Given the description of an element on the screen output the (x, y) to click on. 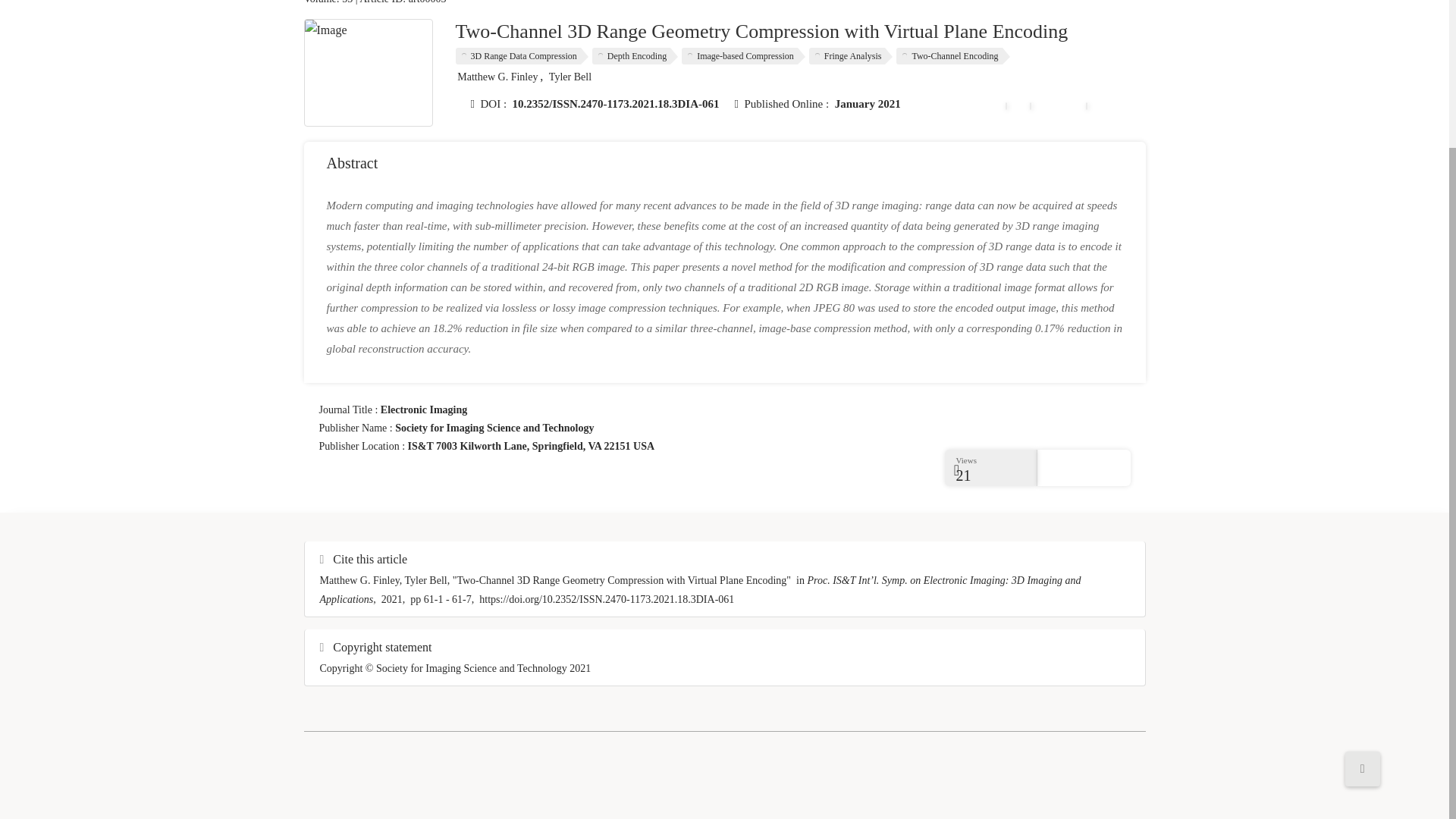
Fringe Analysis (851, 55)
3D Range Data Compression (521, 55)
No article cover image (368, 72)
Image-based Compression (743, 55)
Two-Channel Encoding (952, 55)
Depth Encoding (635, 55)
